Given the description of an element on the screen output the (x, y) to click on. 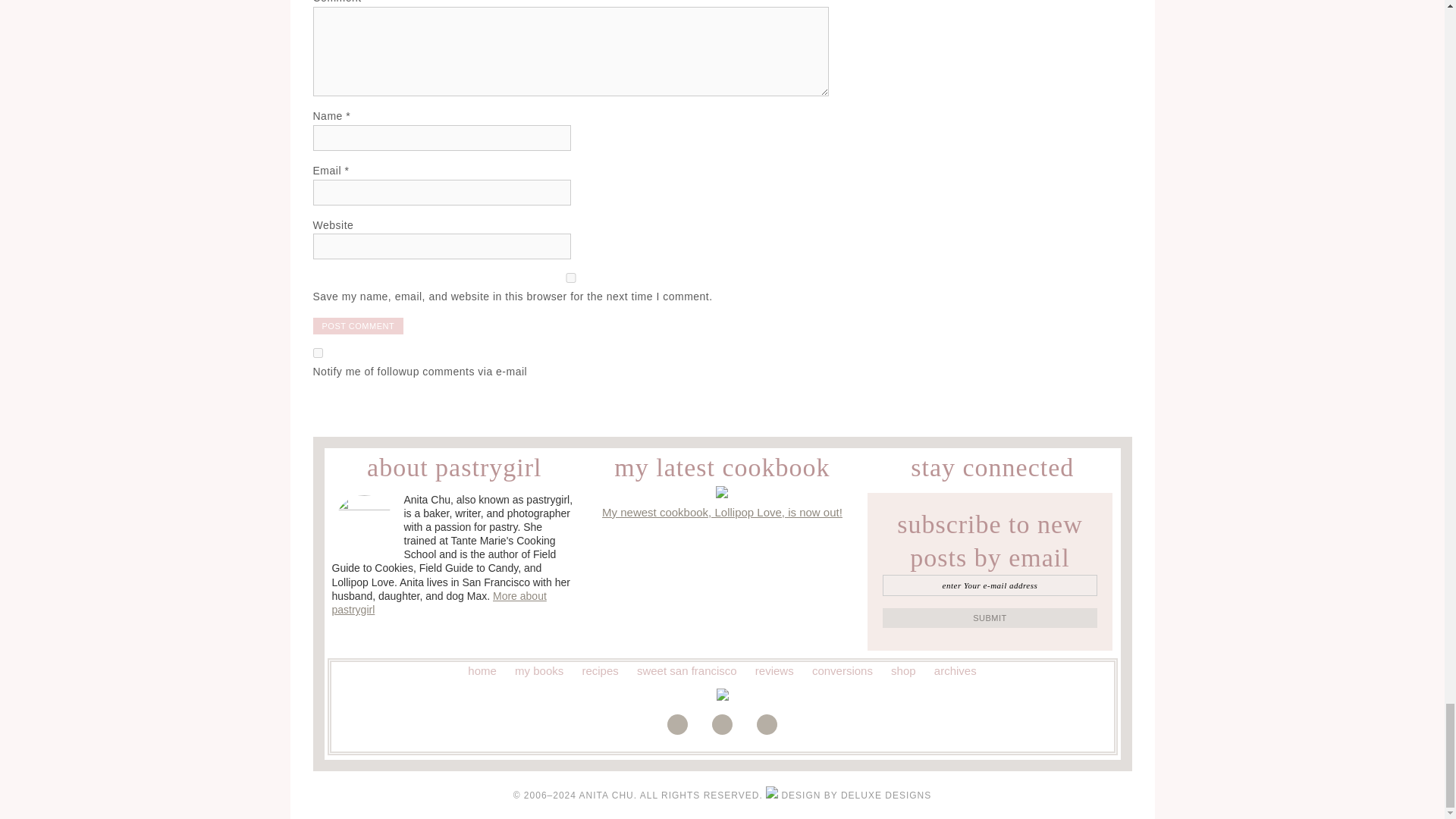
Post Comment (358, 325)
Submit (989, 618)
yes (570, 277)
subscribe (317, 352)
